Given the description of an element on the screen output the (x, y) to click on. 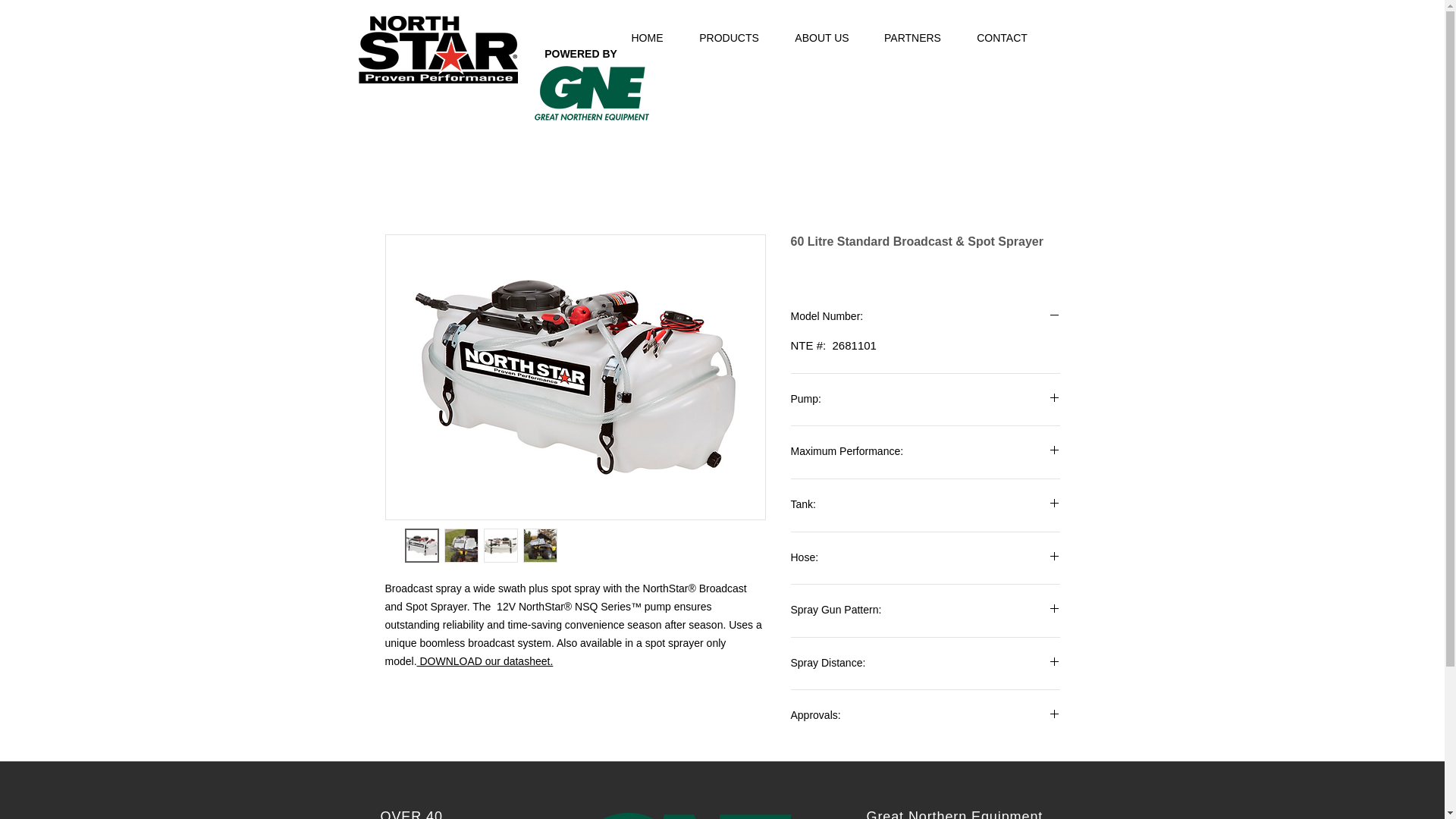
Pump: (924, 399)
Tank: (924, 505)
CONTACT (1001, 37)
 DOWNLOAD our datasheet. (484, 661)
Model Number: (924, 317)
ABOUT US (821, 37)
Approvals: (924, 715)
Hose: (924, 558)
PRODUCTS (729, 37)
Spray Distance: (924, 663)
PARTNERS (911, 37)
HOME (647, 37)
Maximum Performance: (924, 452)
POWERED BY (580, 53)
Spray Gun Pattern: (924, 610)
